Given the description of an element on the screen output the (x, y) to click on. 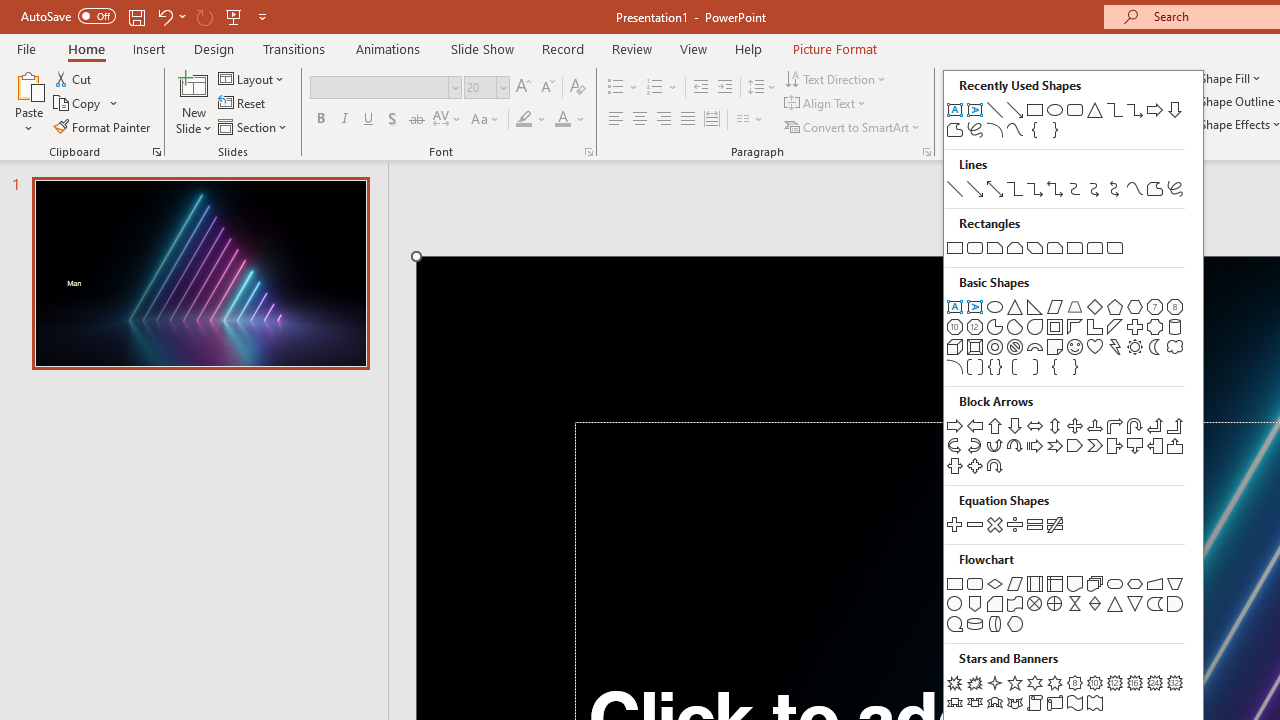
Font Color Red (562, 119)
Font Size (486, 87)
Font Color (569, 119)
Increase Indent (725, 87)
Home (86, 48)
Increase Font Size (522, 87)
Align Right (663, 119)
Distributed (712, 119)
Record (562, 48)
From Beginning (234, 15)
Text Direction (836, 78)
Design (214, 48)
New Slide (193, 84)
Office Clipboard... (156, 151)
Justify (687, 119)
